Given the description of an element on the screen output the (x, y) to click on. 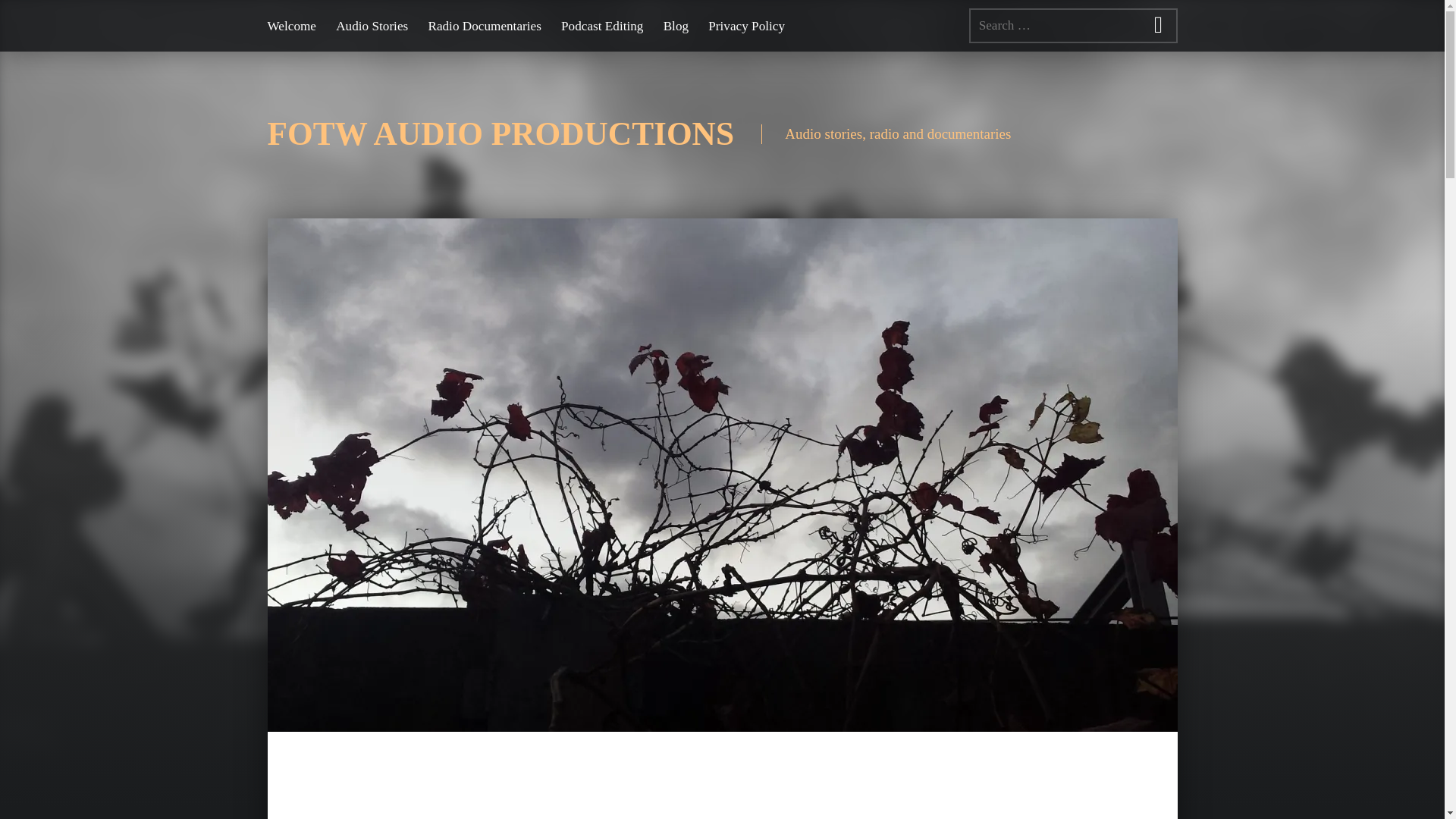
Audio Stories (371, 24)
FOTW AUDIO PRODUCTIONS (499, 133)
Radio Documentaries (484, 24)
Search (1159, 25)
Welcome (290, 24)
Privacy Policy (745, 24)
Podcast Editing (601, 24)
Search (1159, 25)
Search (1159, 25)
